Given the description of an element on the screen output the (x, y) to click on. 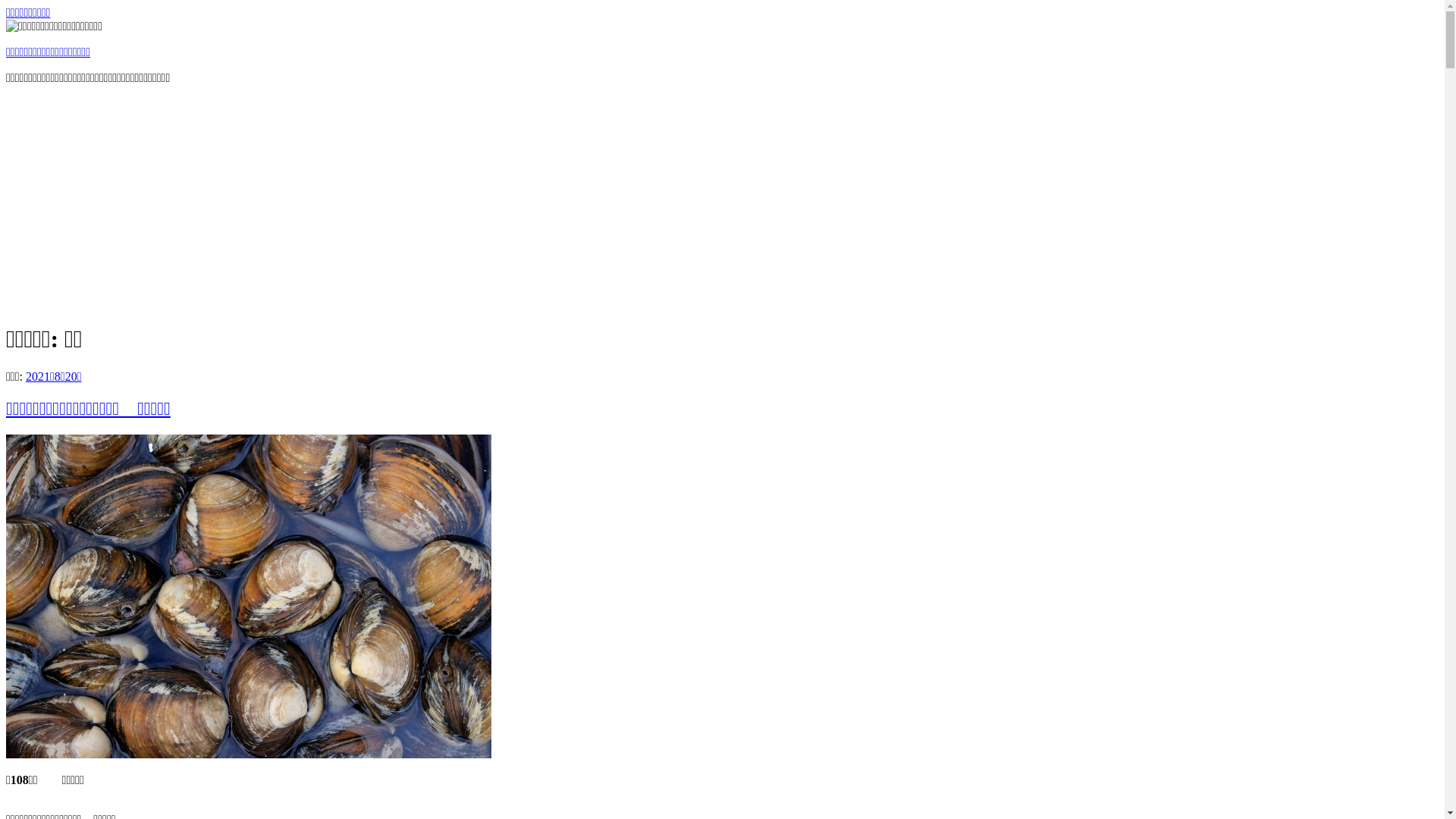
Advertisement Element type: hover (721, 203)
